Given the description of an element on the screen output the (x, y) to click on. 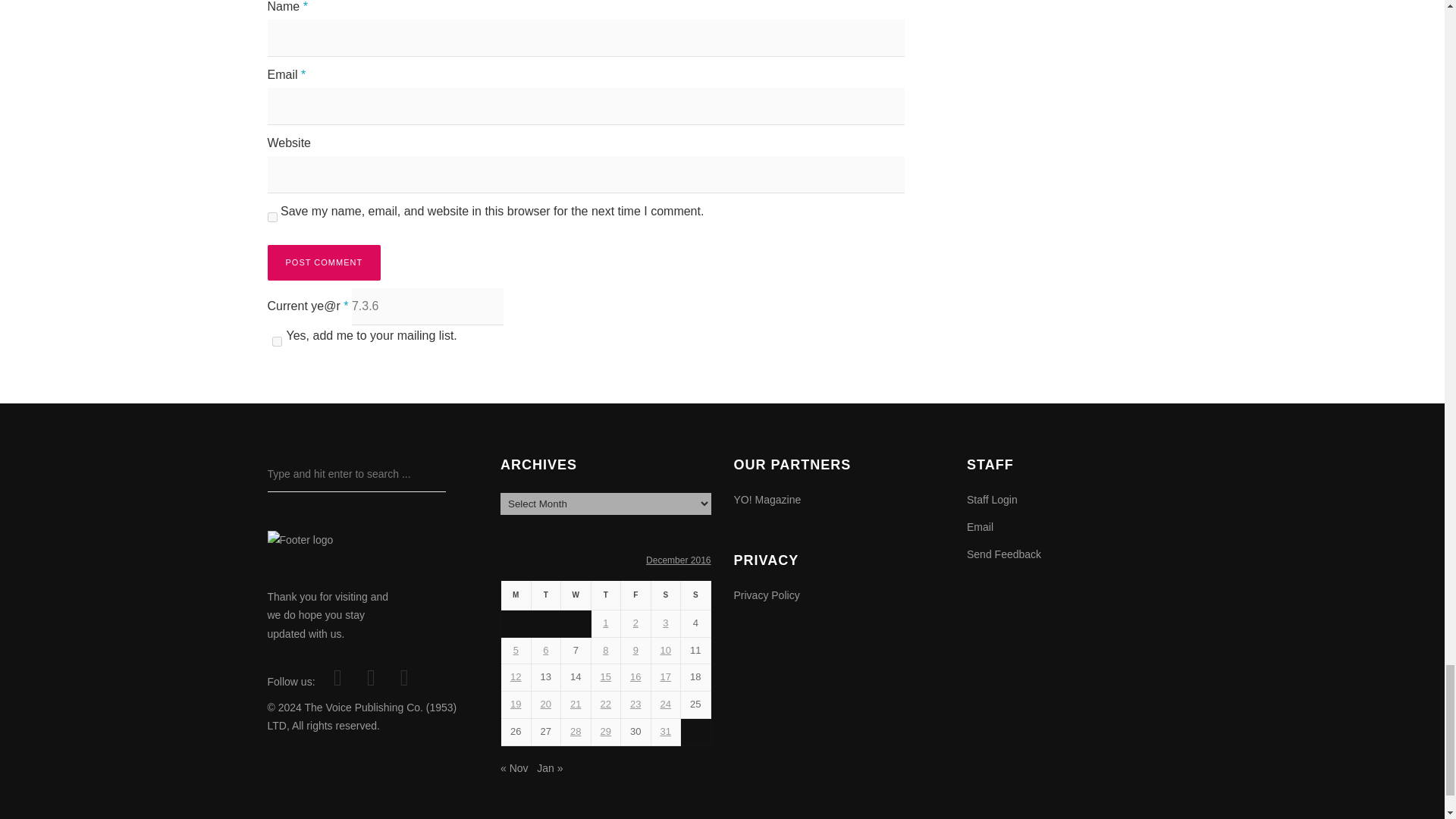
Type and hit enter to search ... (355, 474)
Monday (515, 595)
Post Comment (323, 262)
Type and hit enter to search ... (355, 474)
7.3.6 (427, 306)
yes (271, 216)
1 (275, 341)
